Given the description of an element on the screen output the (x, y) to click on. 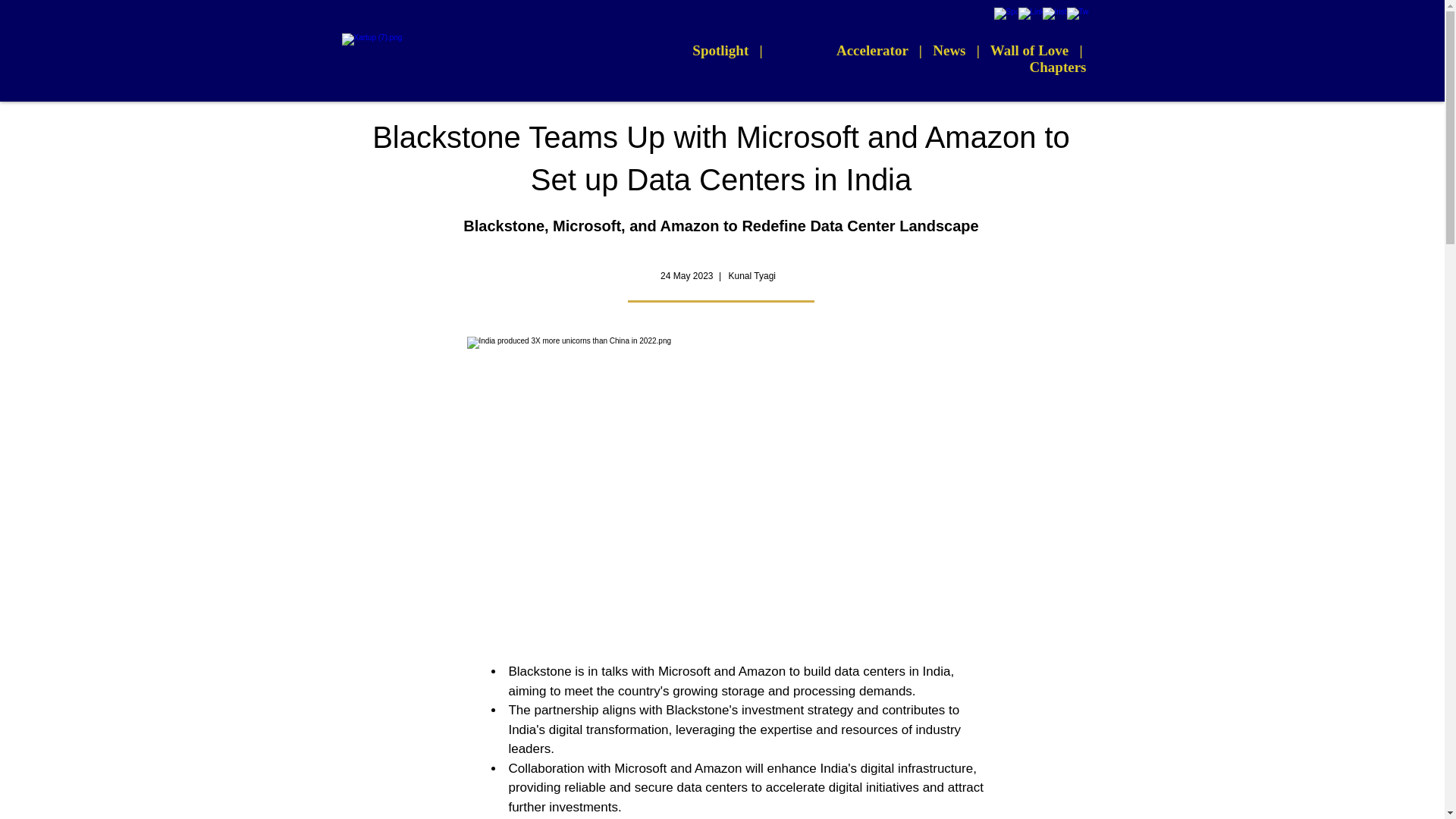
Accelerator (871, 50)
Chapters (1057, 66)
Wall of Love (1029, 50)
News (949, 50)
